Given the description of an element on the screen output the (x, y) to click on. 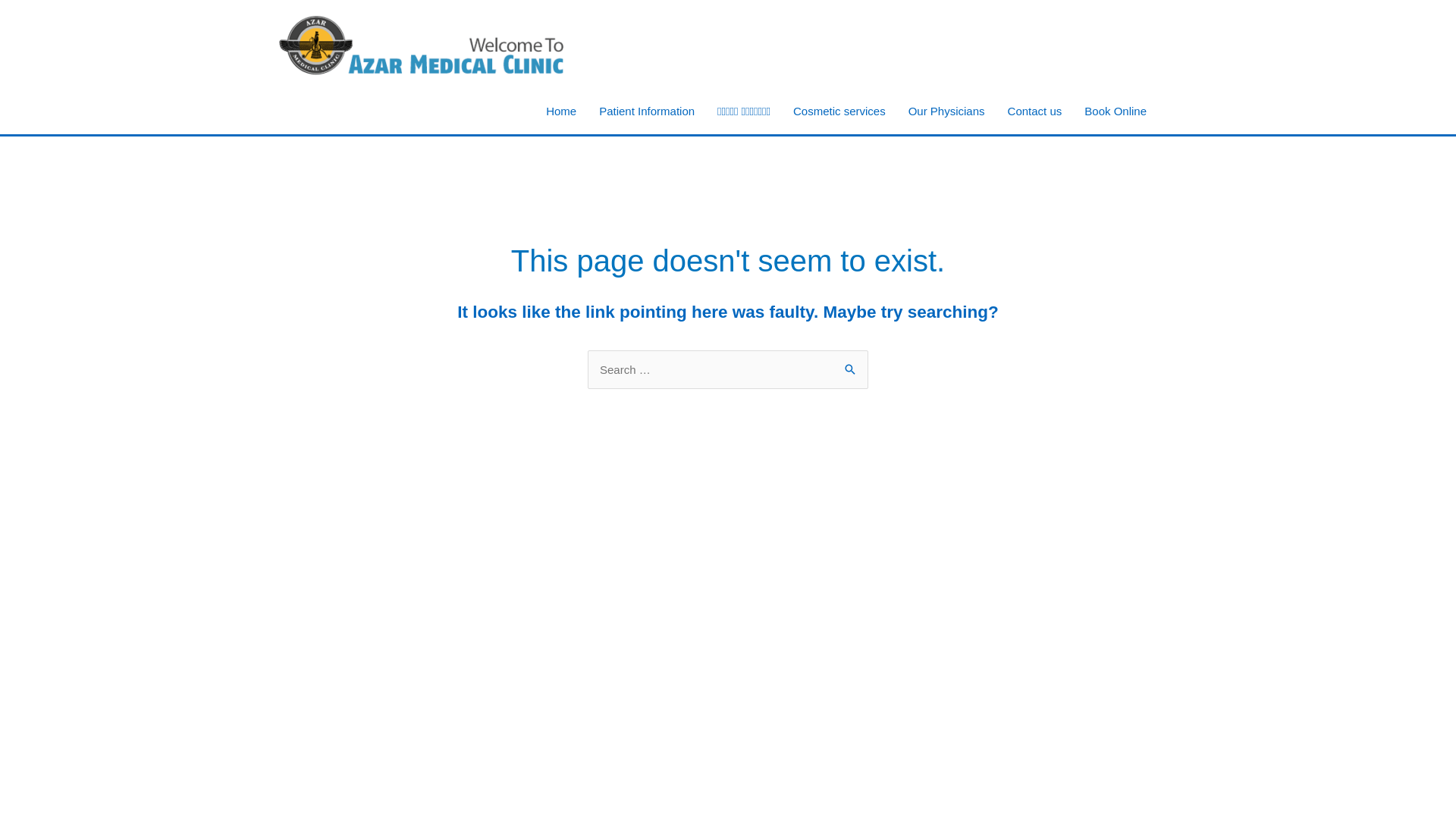
Contact us Element type: text (1034, 111)
Cosmetic services Element type: text (839, 111)
Book Online Element type: text (1115, 111)
Our Physicians Element type: text (946, 111)
Patient Information Element type: text (646, 111)
Search Element type: text (851, 365)
Home Element type: text (560, 111)
